Given the description of an element on the screen output the (x, y) to click on. 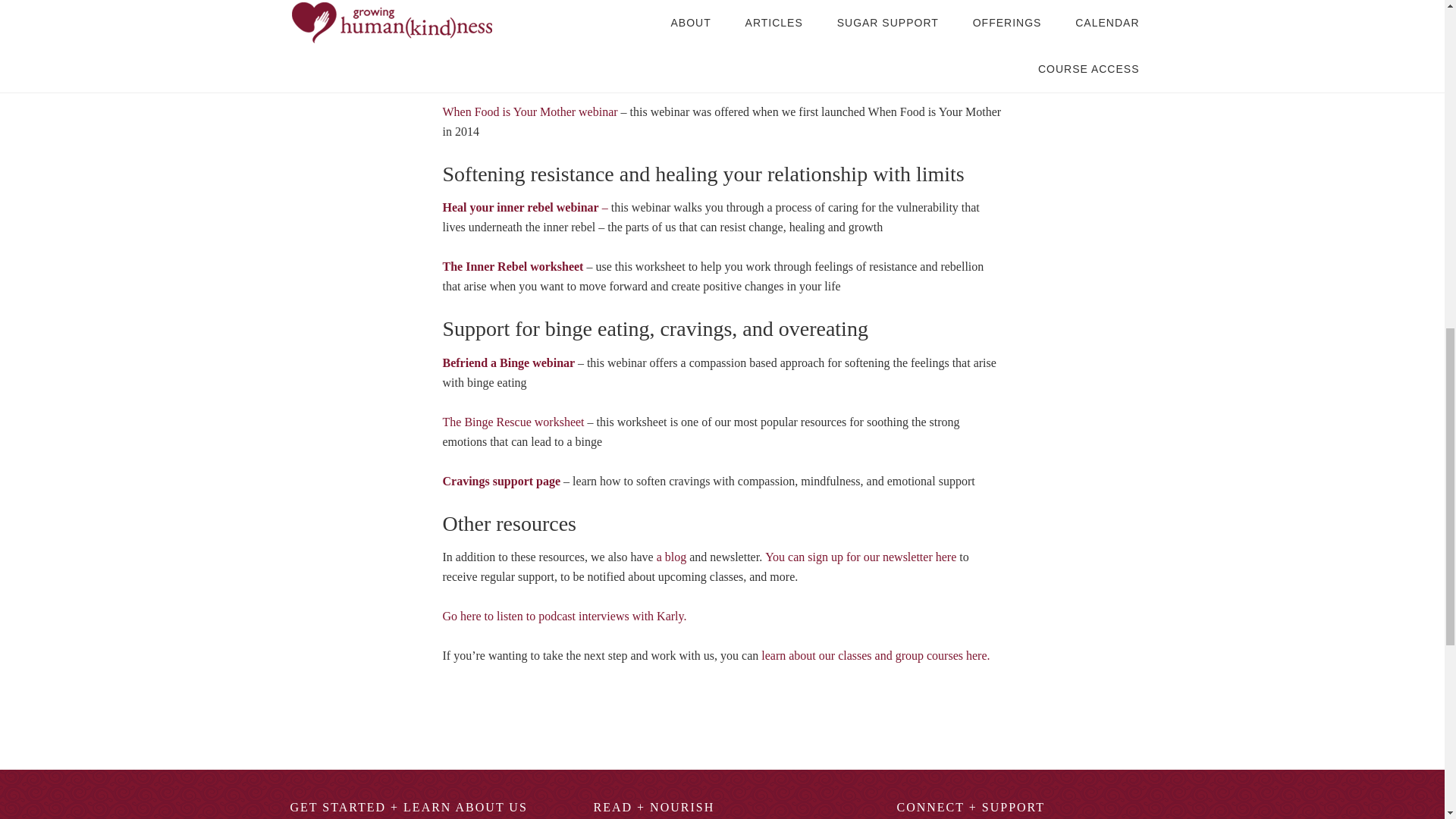
Go here to listen to podcast interviews with Karly. (564, 615)
The Inner Rebel worksheet (512, 266)
Befriend a Binge webinar (510, 362)
learn about our classes and group courses here. (875, 655)
You can sign up for our newsletter here (860, 556)
a blog (671, 556)
Cravings support page (501, 481)
Sugar Addiction support page (520, 51)
When Food is Your Mother webinar (529, 111)
The Binge Rescue worksheet (513, 421)
